Given the description of an element on the screen output the (x, y) to click on. 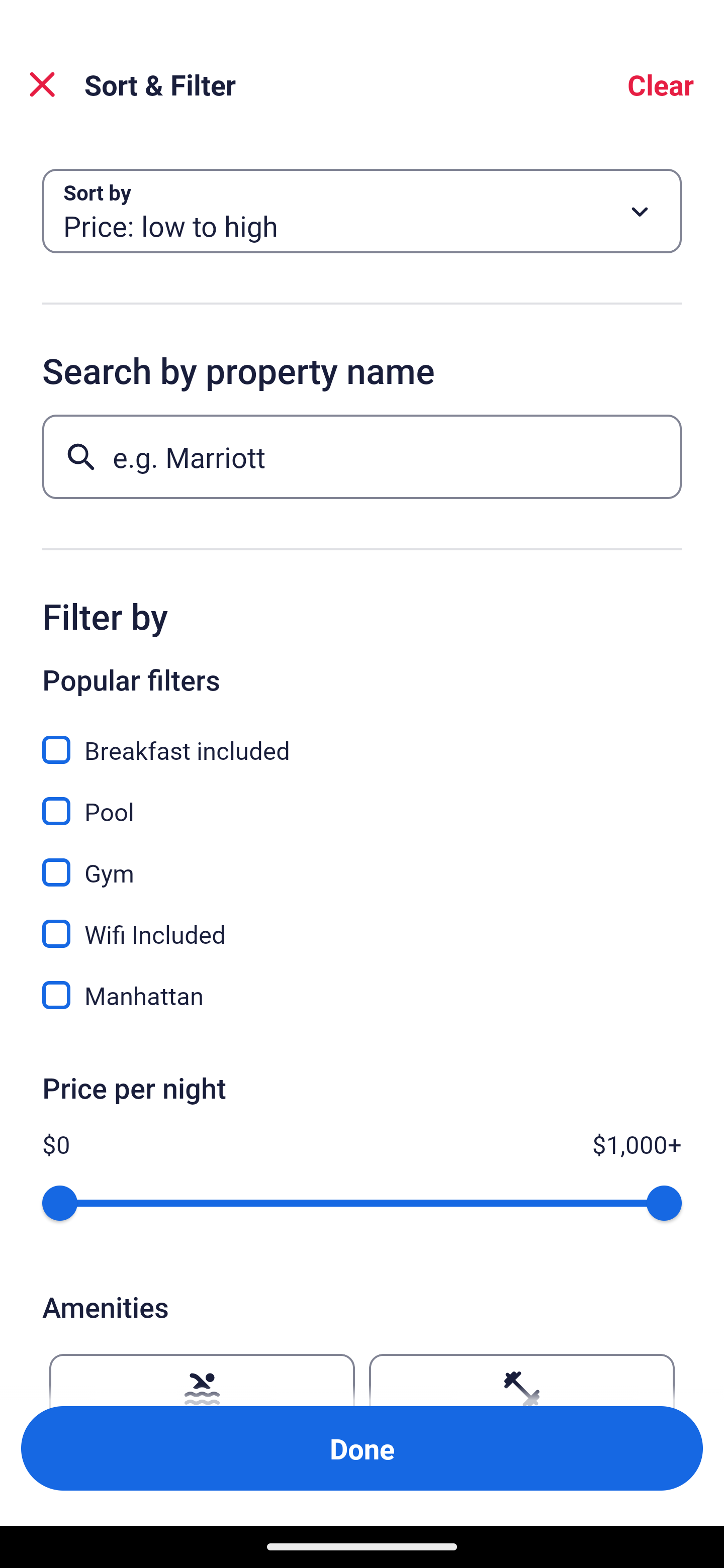
Close Sort and Filter (42, 84)
Clear (660, 84)
Sort by Button Price: low to high (361, 211)
e.g. Marriott Button (361, 455)
Breakfast included, Breakfast included (361, 738)
Pool, Pool (361, 800)
Gym, Gym (361, 861)
Wifi Included, Wifi Included (361, 922)
Manhattan, Manhattan (361, 995)
Apply and close Sort and Filter Done (361, 1448)
